Given the description of an element on the screen output the (x, y) to click on. 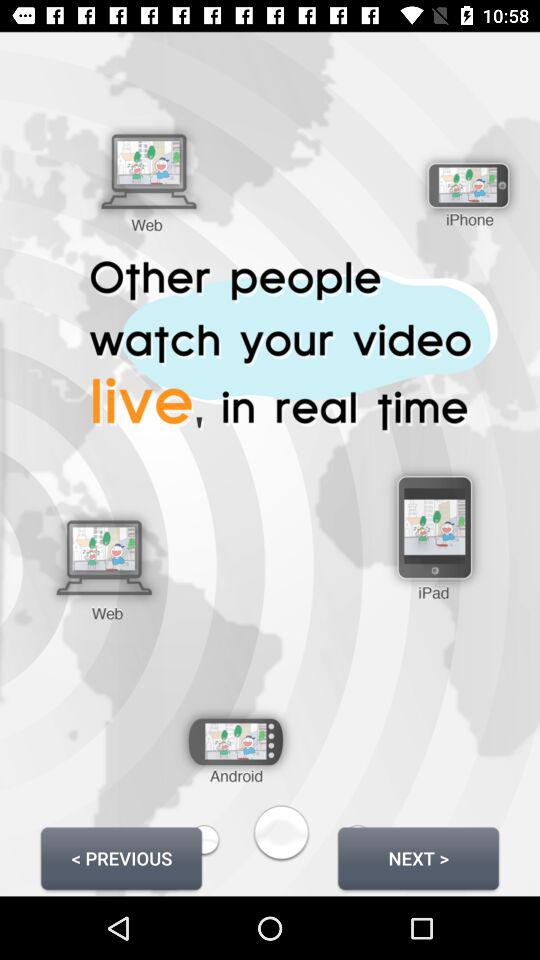
swipe to the < previous icon (121, 858)
